Given the description of an element on the screen output the (x, y) to click on. 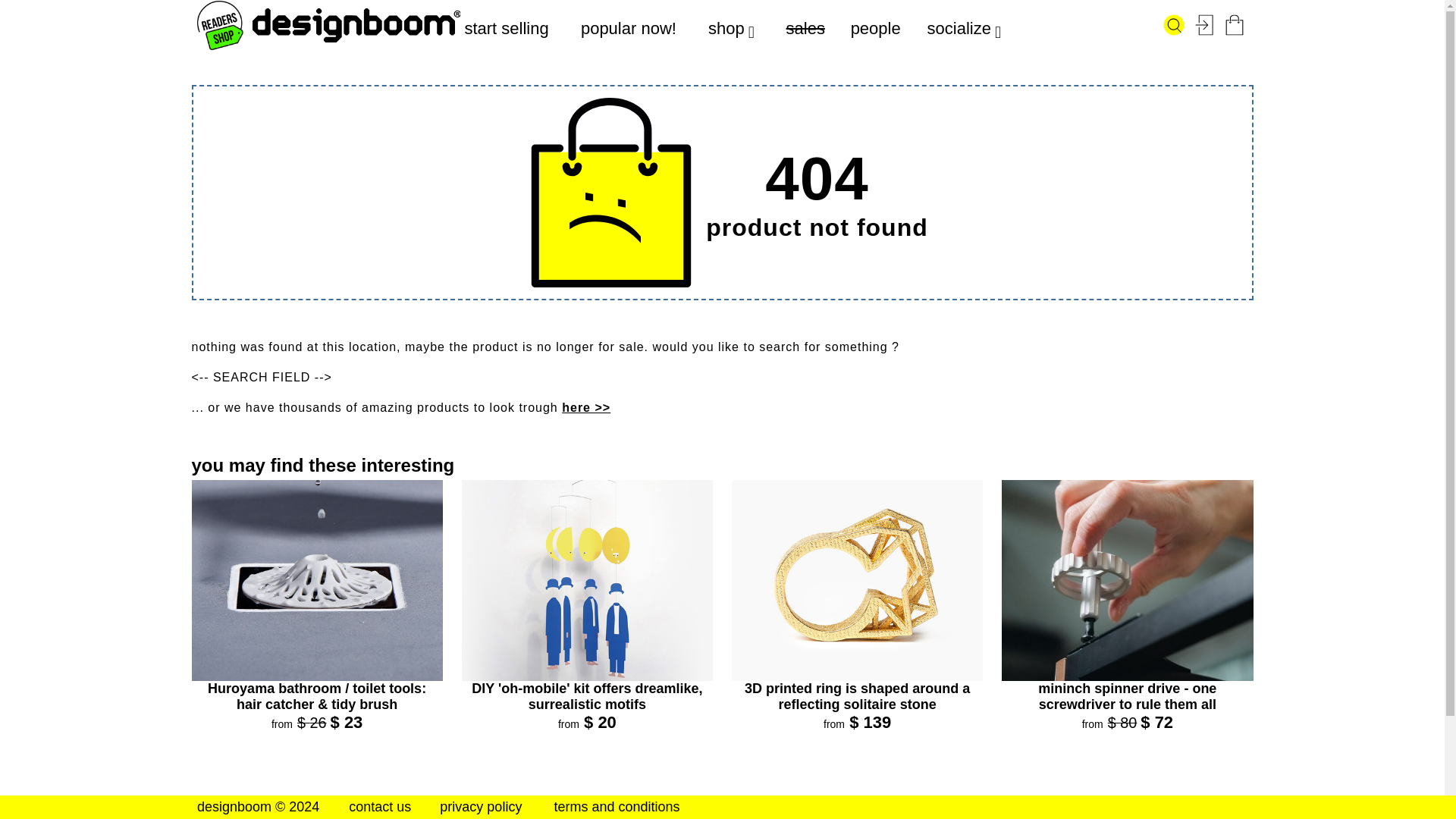
mininch spinner drive - one screwdriver to rule them all (1126, 695)
DIY 'oh-mobile' kit offers dreamlike, surrealistic motifs (586, 695)
DIY 'oh-mobile' kit offers dreamlike, surrealistic motifs (586, 695)
